Given the description of an element on the screen output the (x, y) to click on. 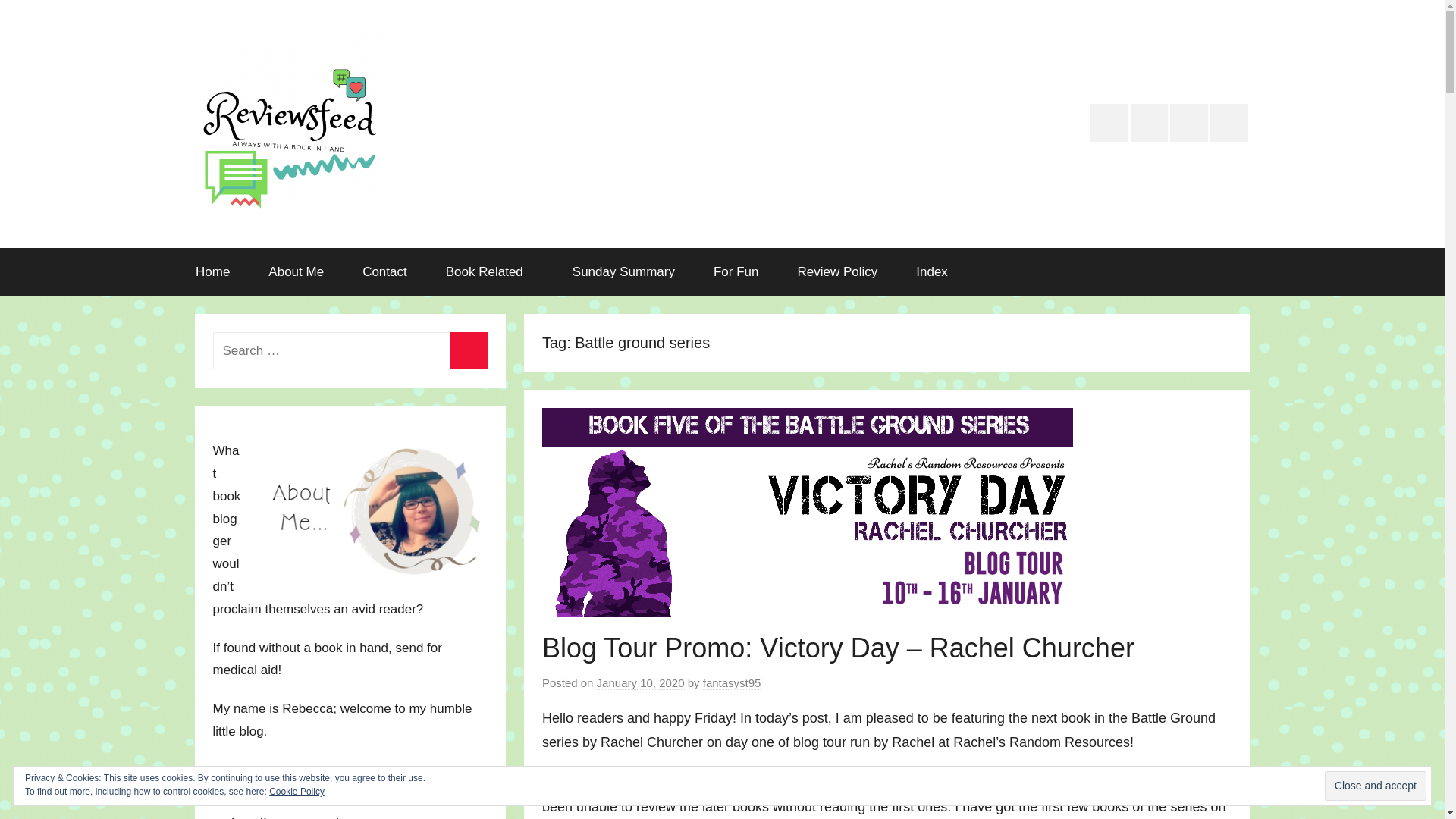
For Fun (735, 271)
Review Policy (836, 271)
Twitter (1109, 122)
About Me (295, 271)
Instagram (1189, 122)
Search for: (349, 350)
Sunday Summary (623, 271)
Home (212, 271)
Contact (384, 271)
GoodReads (1150, 122)
Book Related (489, 271)
Facebook (1228, 122)
Close and accept (1375, 785)
Index (932, 271)
fantasyst95 (732, 683)
